Given the description of an element on the screen output the (x, y) to click on. 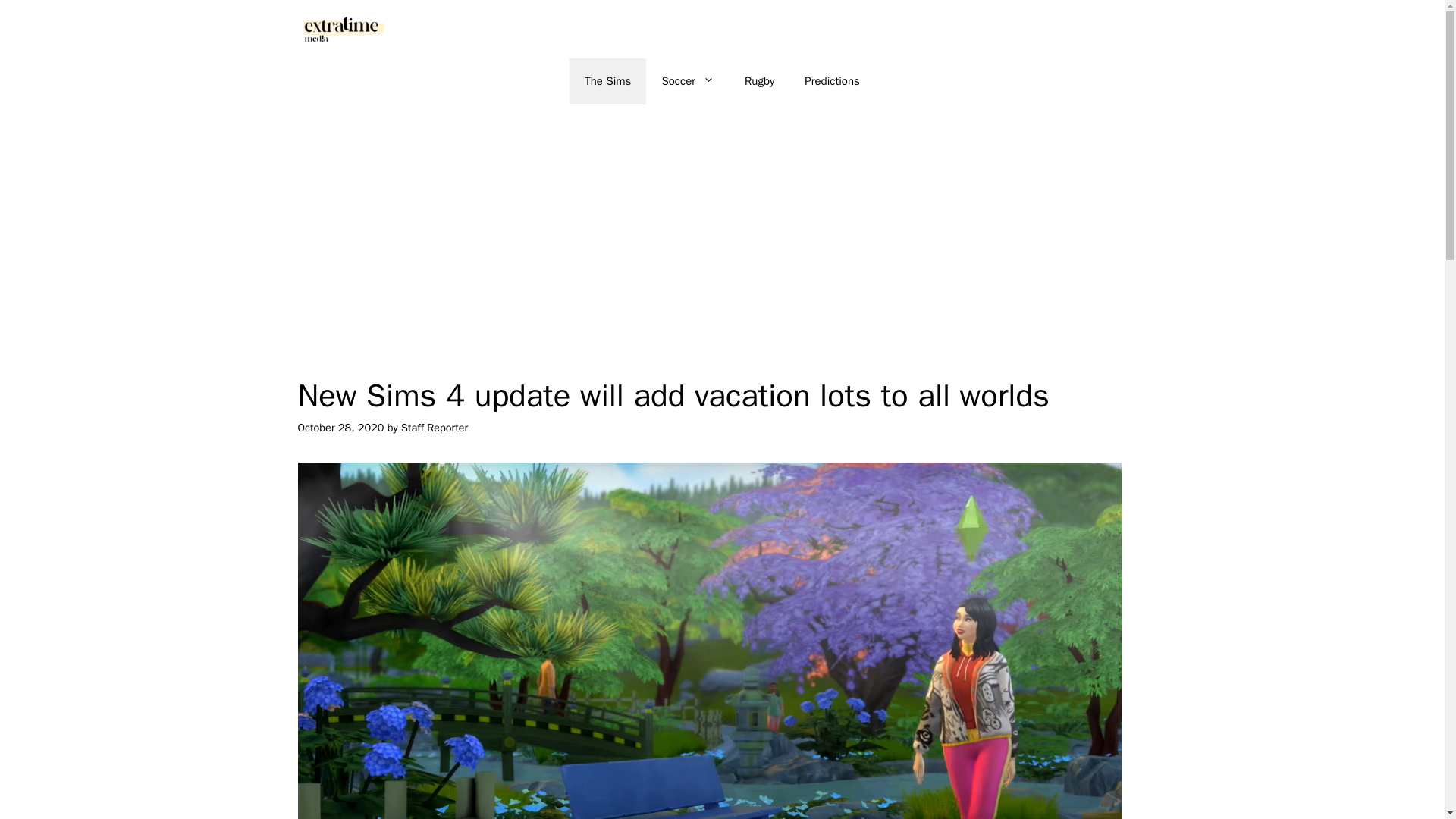
Soccer (687, 80)
Staff Reporter (434, 427)
View all posts by Staff Reporter (434, 427)
Rugby (759, 80)
The Sims (607, 80)
Predictions (832, 80)
